Given the description of an element on the screen output the (x, y) to click on. 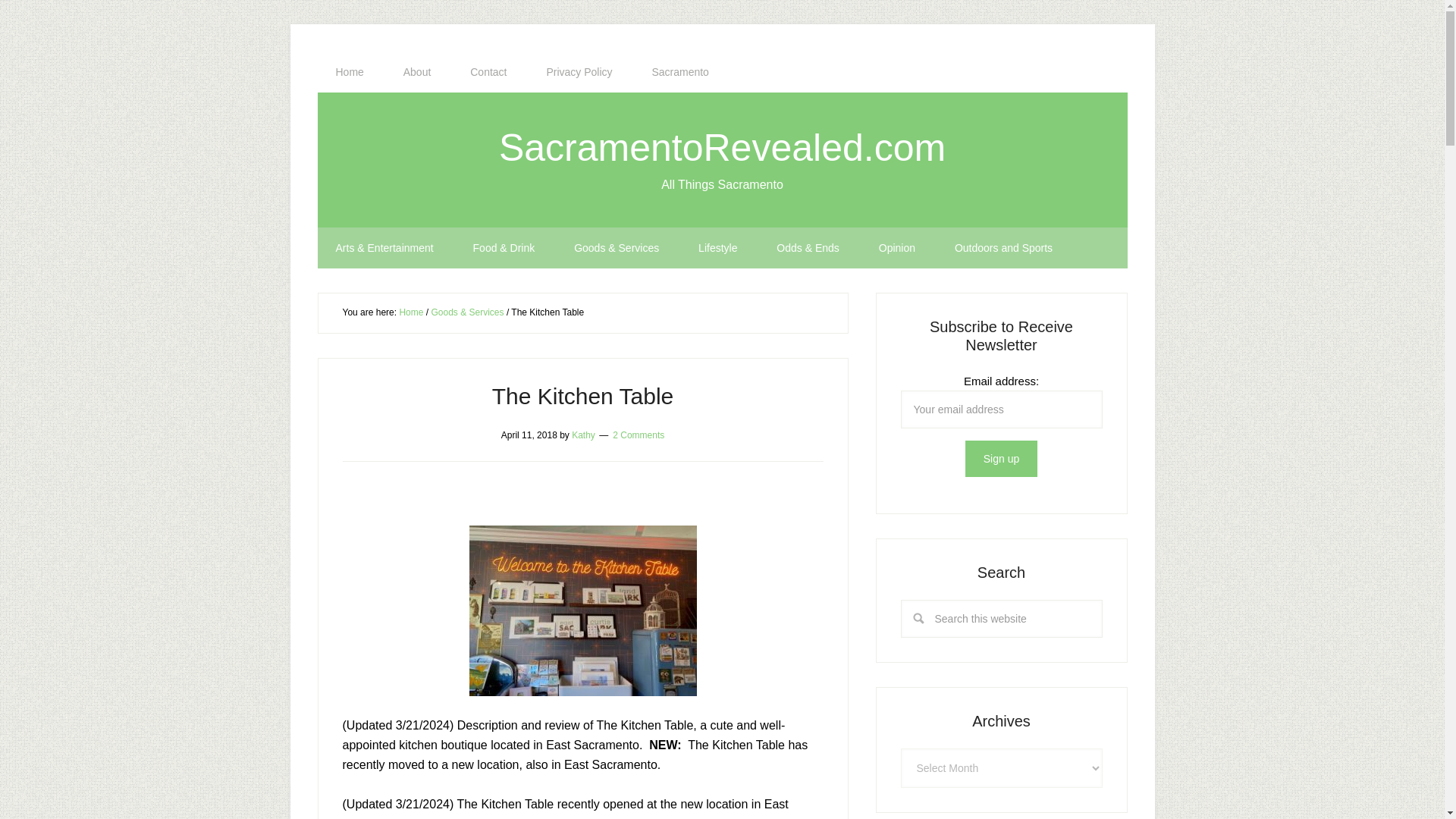
Sign up (1000, 458)
Opinion (896, 247)
Contact (487, 71)
Outdoors and Sports (1003, 247)
Home (349, 71)
Privacy Policy (578, 71)
About (417, 71)
Lifestyle (717, 247)
2 Comments (637, 434)
